Given the description of an element on the screen output the (x, y) to click on. 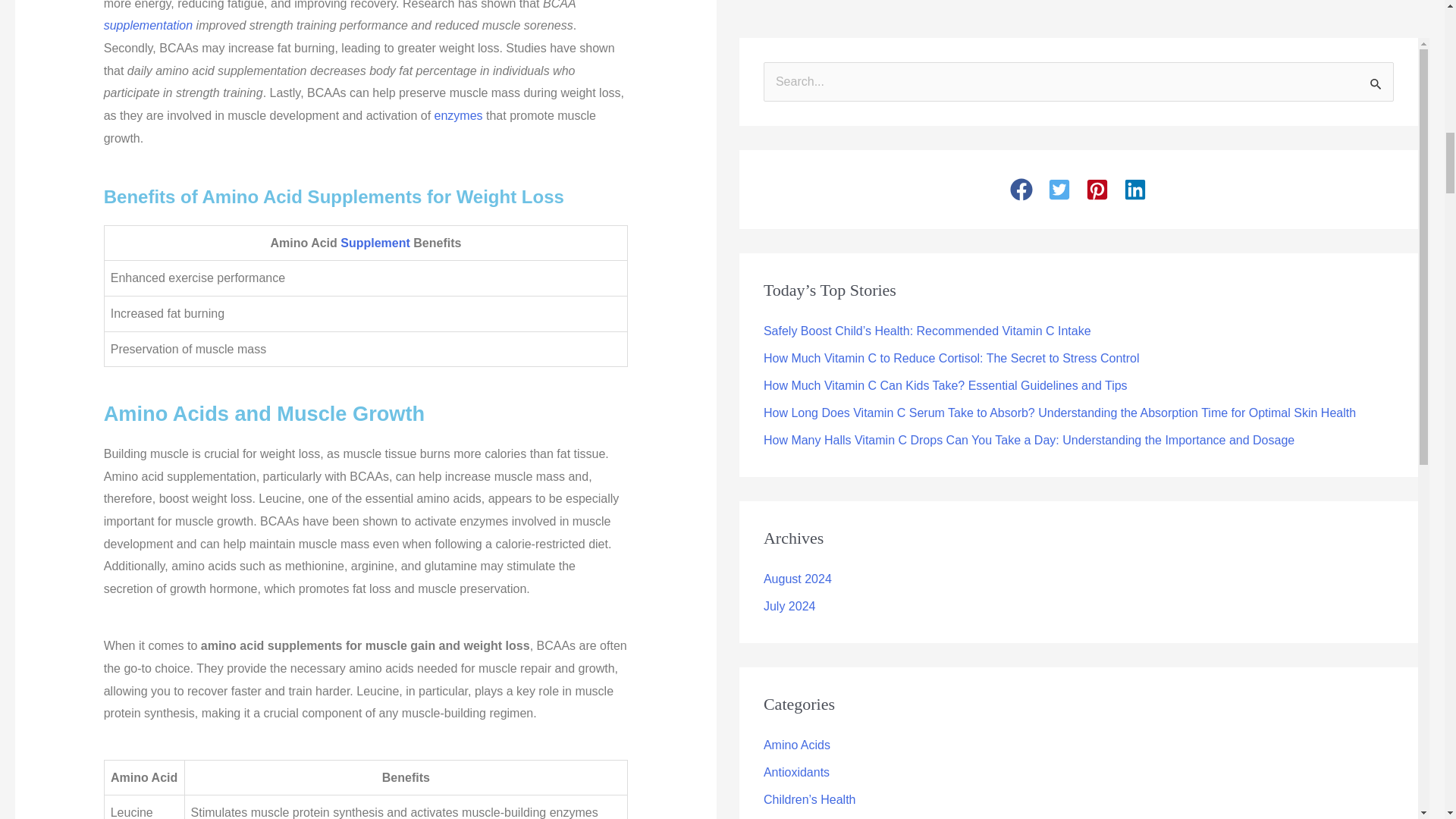
enzymes (458, 115)
supplementation (147, 24)
Supplement (375, 242)
